Given the description of an element on the screen output the (x, y) to click on. 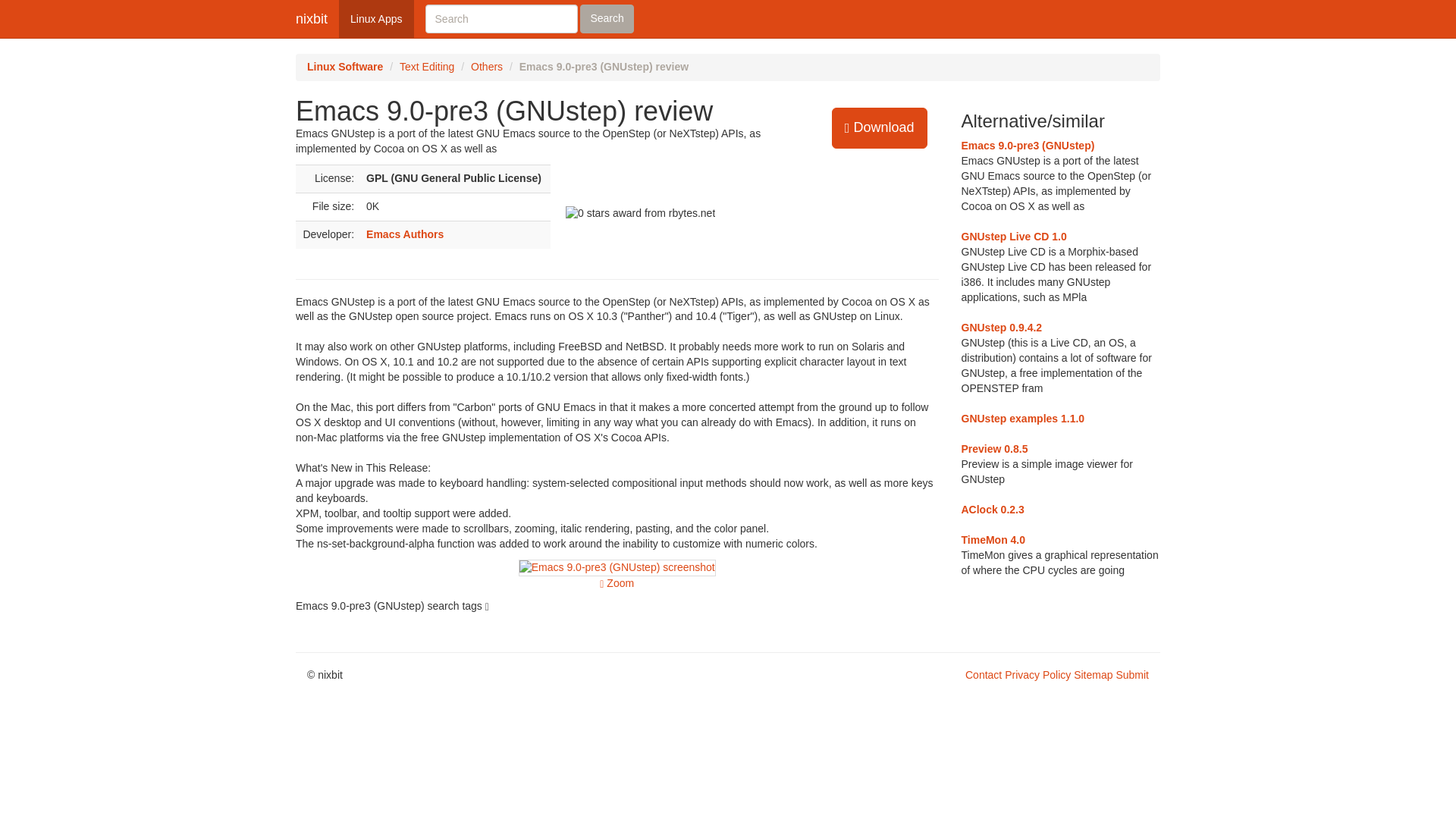
Others (486, 66)
Privacy Policy (1037, 674)
Preview 0.8.5 review (993, 449)
Emacs Authors (405, 234)
Contact (983, 674)
Linux Apps (376, 18)
nixbit (311, 18)
Linux Software (344, 66)
Download (879, 127)
nixbit (311, 18)
